Given the description of an element on the screen output the (x, y) to click on. 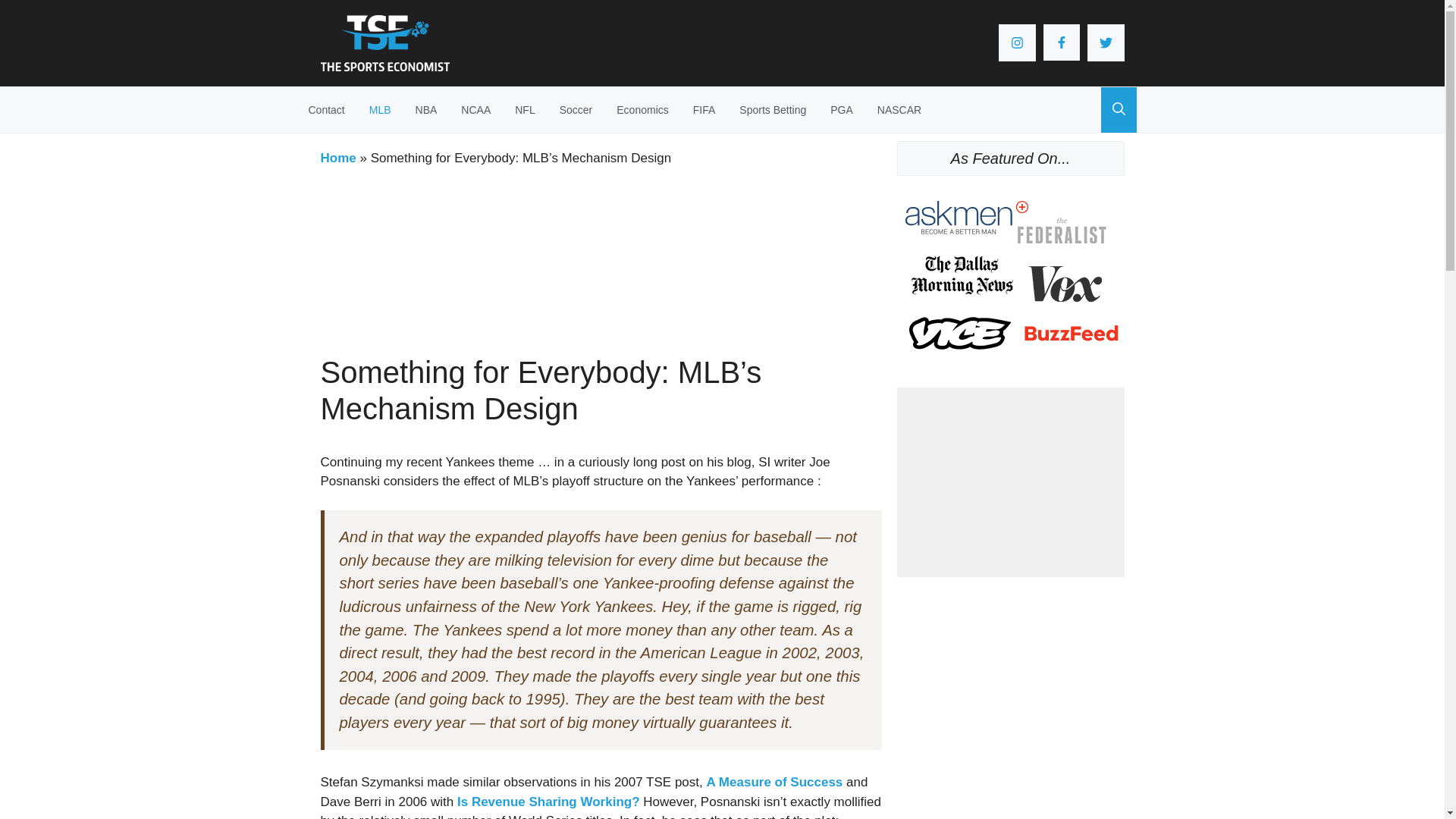
Is Revenue Sharing Working? (548, 801)
MLB (379, 109)
A Measure of Success (774, 781)
NCAA (475, 109)
Soccer (576, 109)
Sports Betting (772, 109)
FIFA (704, 109)
PGA (841, 109)
Contact (331, 109)
Home (337, 157)
